Given the description of an element on the screen output the (x, y) to click on. 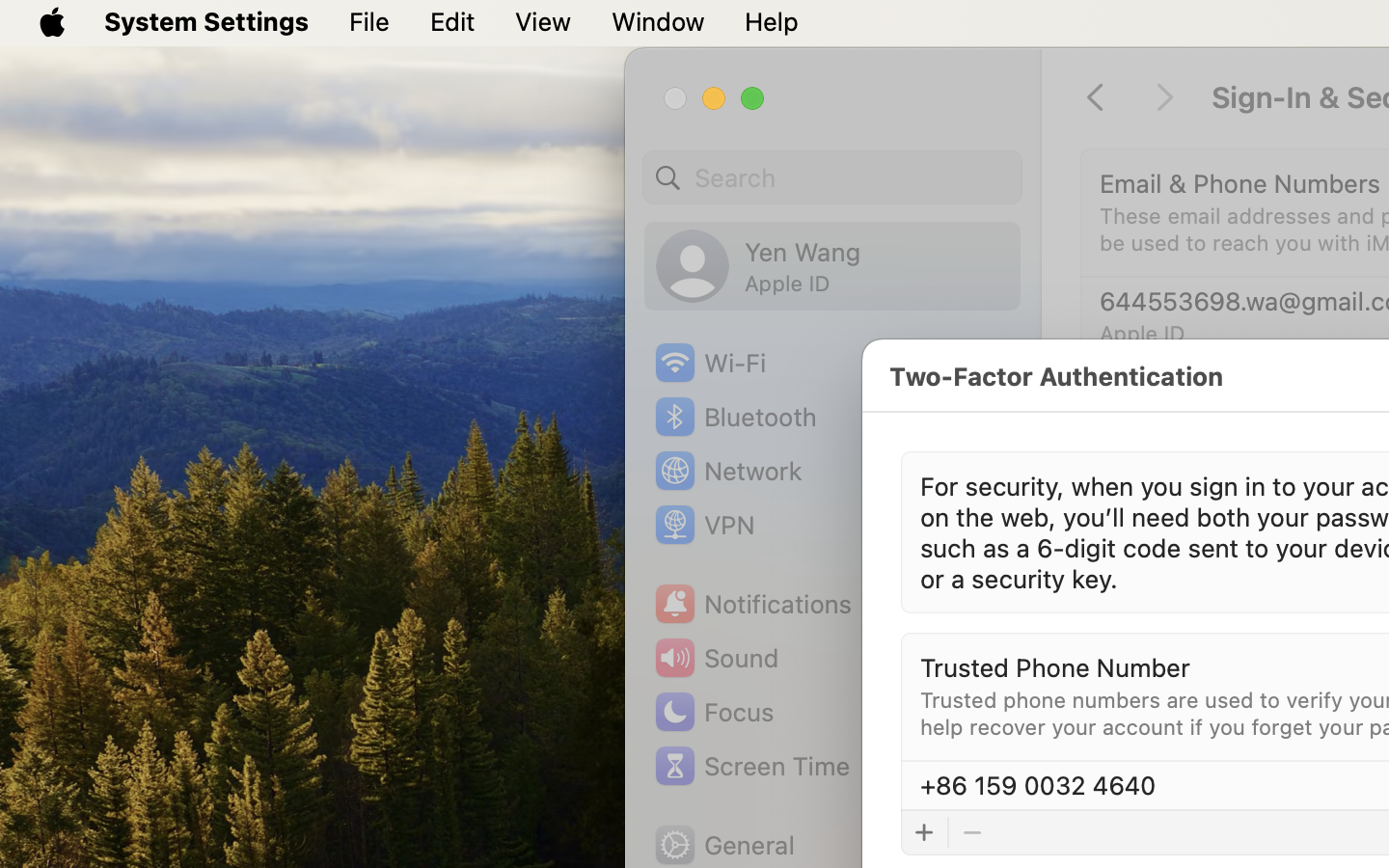
Email & Phone Numbers Element type: AXStaticText (1240, 182)
General Element type: AXStaticText (723, 844)
Two‑Factor Authentication Element type: AXStaticText (1056, 375)
Apple ID Element type: AXStaticText (1141, 333)
Bluetooth Element type: AXStaticText (734, 416)
